Given the description of an element on the screen output the (x, y) to click on. 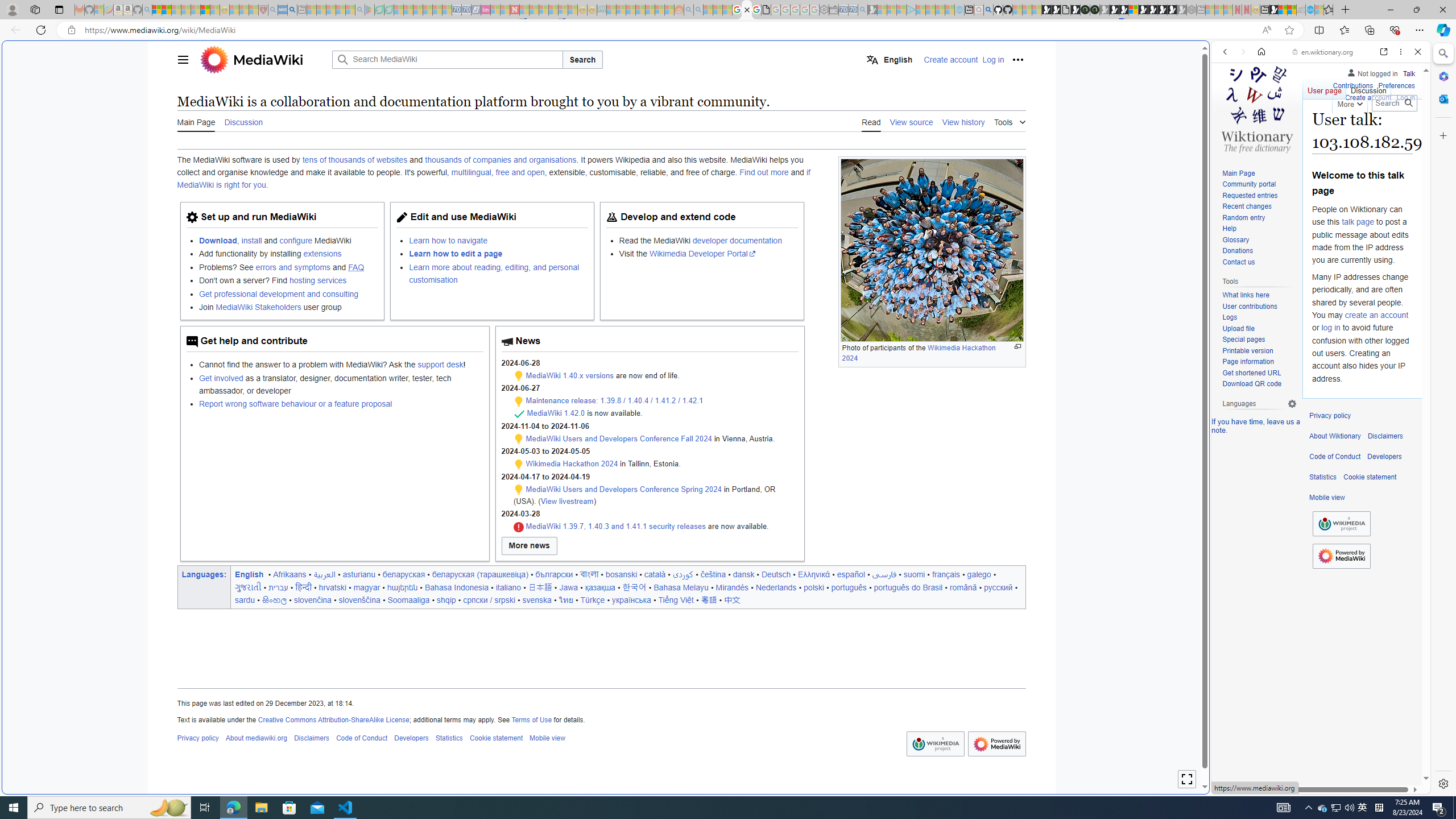
utah sues federal government - Search (291, 9)
Get shortened URL (1259, 373)
Play Zoo Boom in your browser | Games from Microsoft Start (1055, 9)
Wikimedia Developer Portal (702, 253)
Problems? See errors and symptoms and FAQ (288, 266)
What links here (1245, 295)
Requested entries (1249, 194)
